Given the description of an element on the screen output the (x, y) to click on. 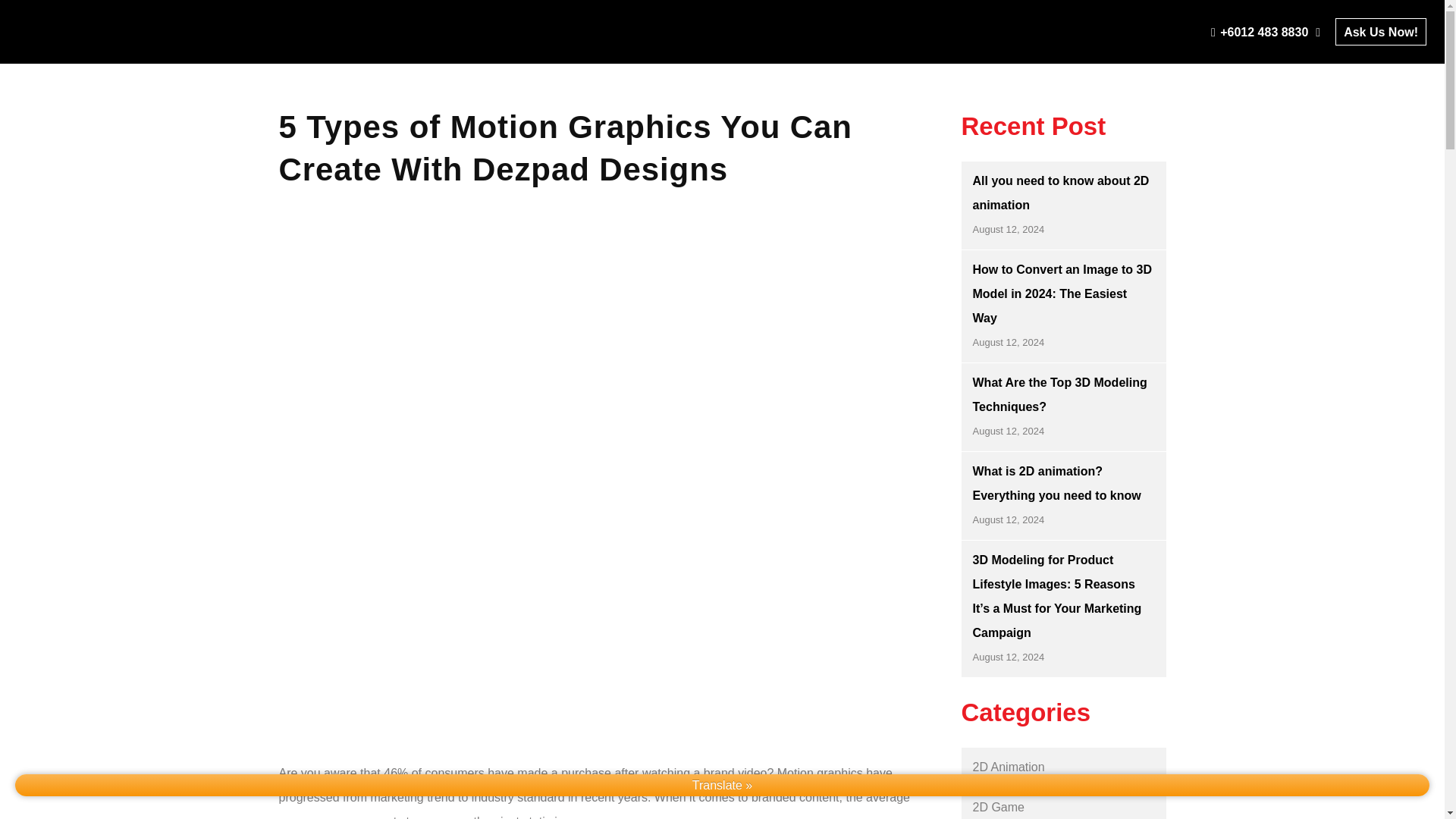
HOME (665, 57)
How to Convert an Image to 3D Model in 2024: The Easiest Way (1061, 293)
Ask Us Now! (1380, 31)
CONTACT US (1264, 57)
ABOUT US (757, 57)
What Are the Top 3D Modeling Techniques? (1059, 394)
BLOG (1059, 57)
LOCATION (1148, 57)
CAREER (1372, 57)
All you need to know about 2D animation (1060, 192)
